Given the description of an element on the screen output the (x, y) to click on. 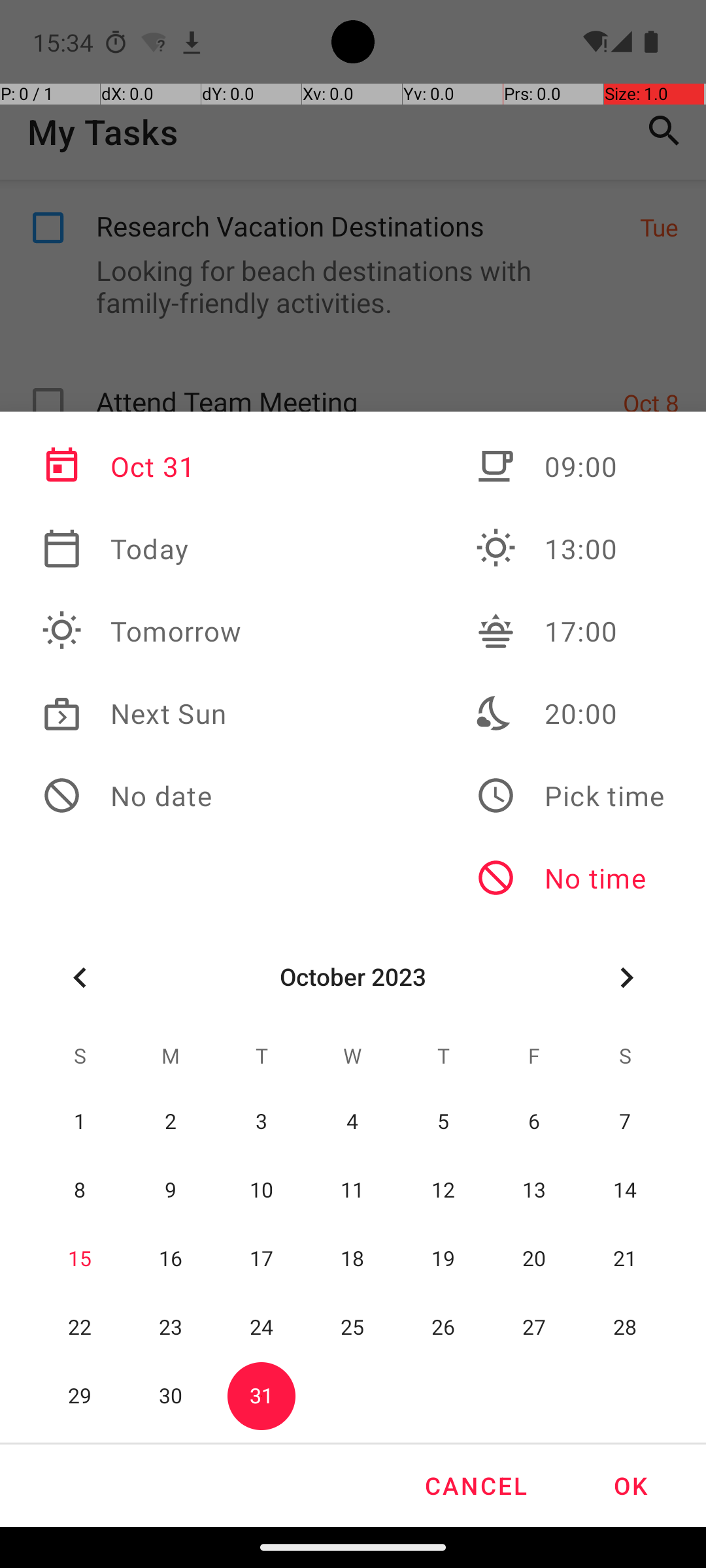
Oct 31 Element type: android.widget.CompoundButton (141, 466)
